Given the description of an element on the screen output the (x, y) to click on. 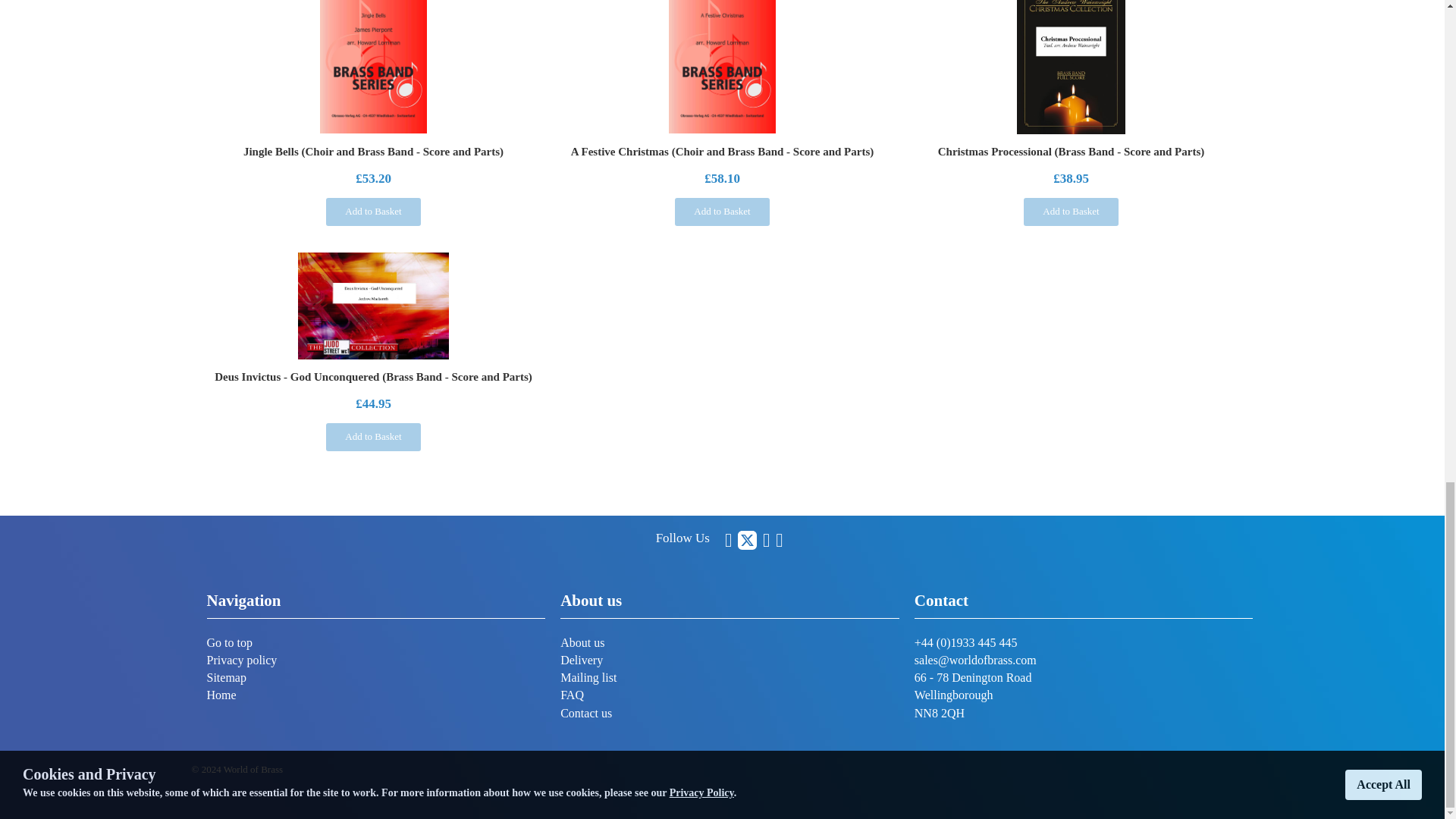
Add to Basket (373, 212)
About us (582, 642)
Contact us (585, 712)
FAQ (571, 694)
Find Us on X (747, 539)
Home (220, 694)
Privacy policy (241, 659)
Go to top (228, 642)
Add to Basket (1070, 212)
Add to Basket (722, 212)
